Given the description of an element on the screen output the (x, y) to click on. 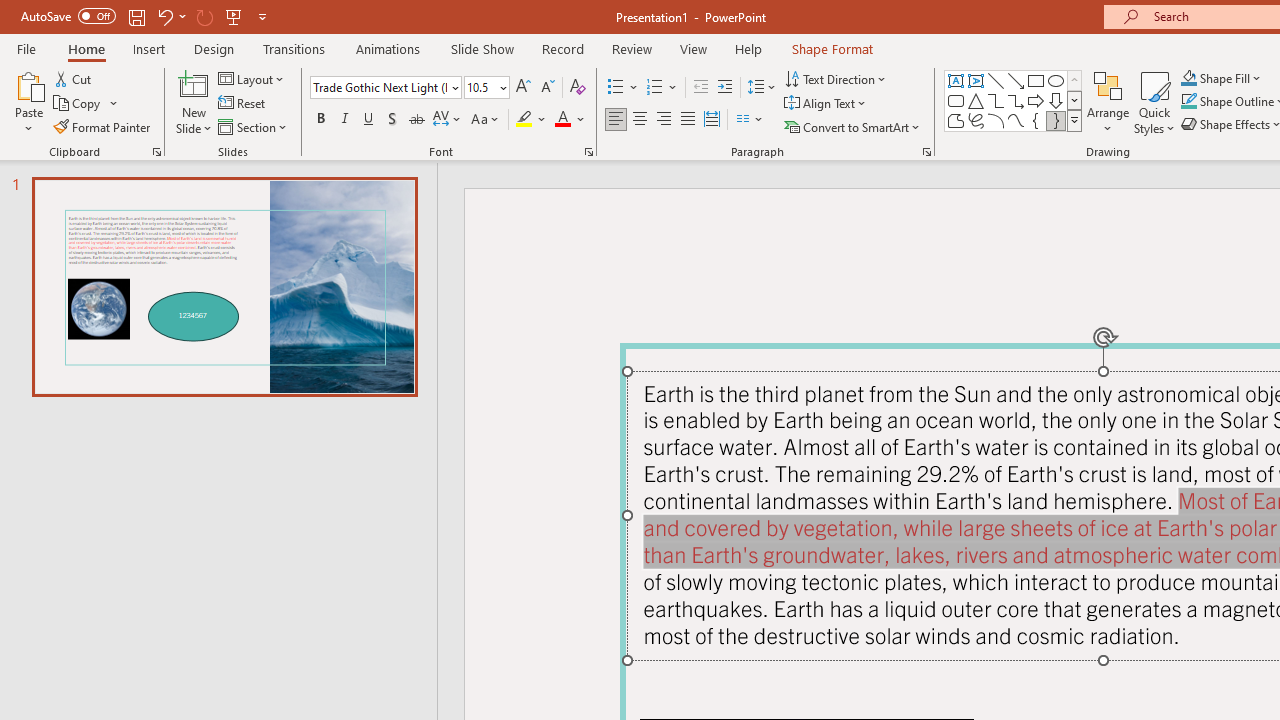
Character Spacing (447, 119)
Distributed (712, 119)
Change Case (486, 119)
Isosceles Triangle (975, 100)
Cut (73, 78)
Increase Indent (725, 87)
Line Spacing (762, 87)
Connector: Elbow Arrow (1016, 100)
